Given the description of an element on the screen output the (x, y) to click on. 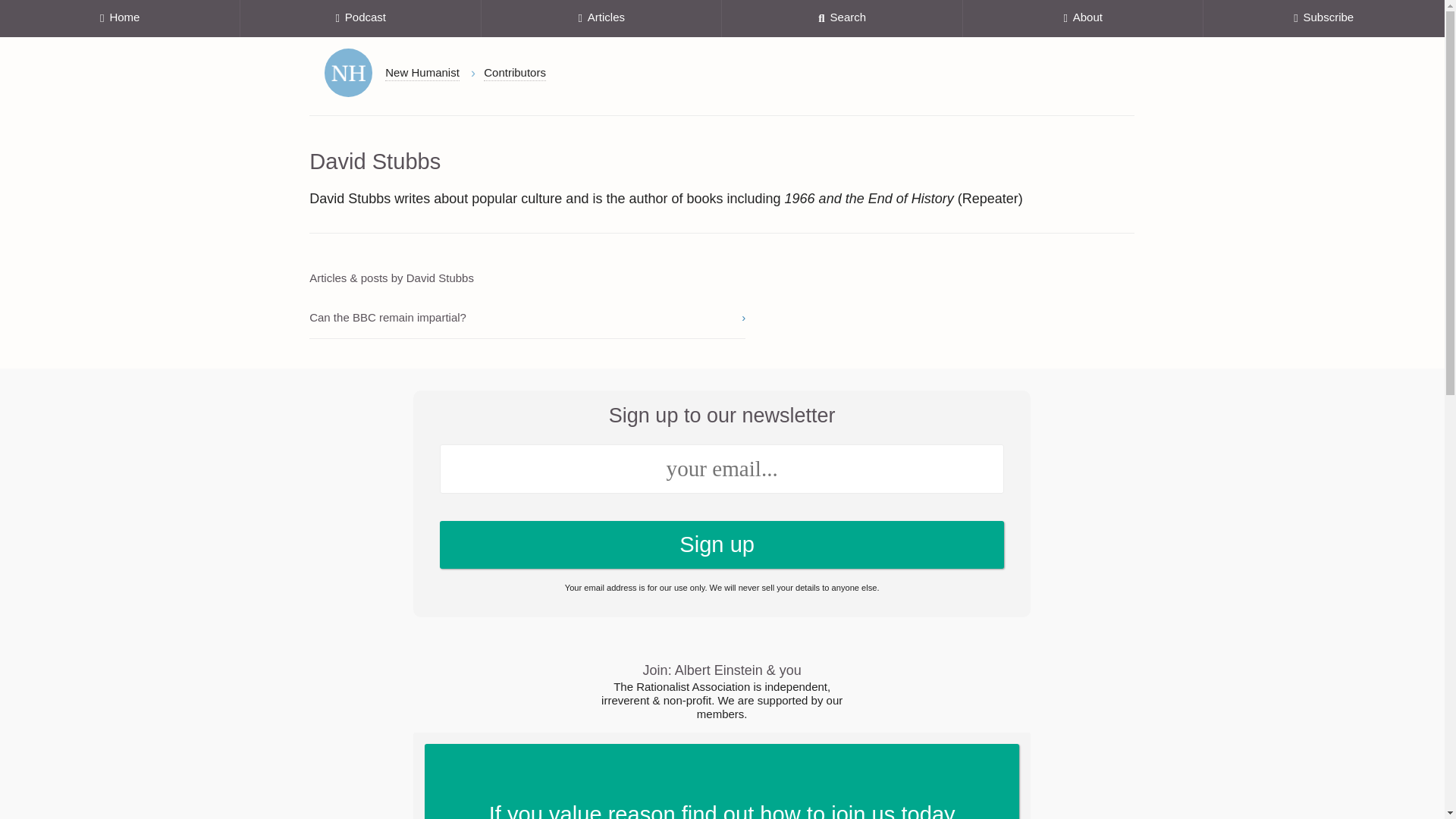
Subscribe (1324, 18)
Home (120, 18)
If you value reason find out how to join us today (722, 781)
Contributors (514, 73)
New Humanist (422, 73)
Sign up (721, 544)
Podcast (360, 18)
Can the BBC remain impartial? (526, 318)
Search (842, 18)
Articles (601, 18)
Home (348, 72)
About (1083, 18)
